Given the description of an element on the screen output the (x, y) to click on. 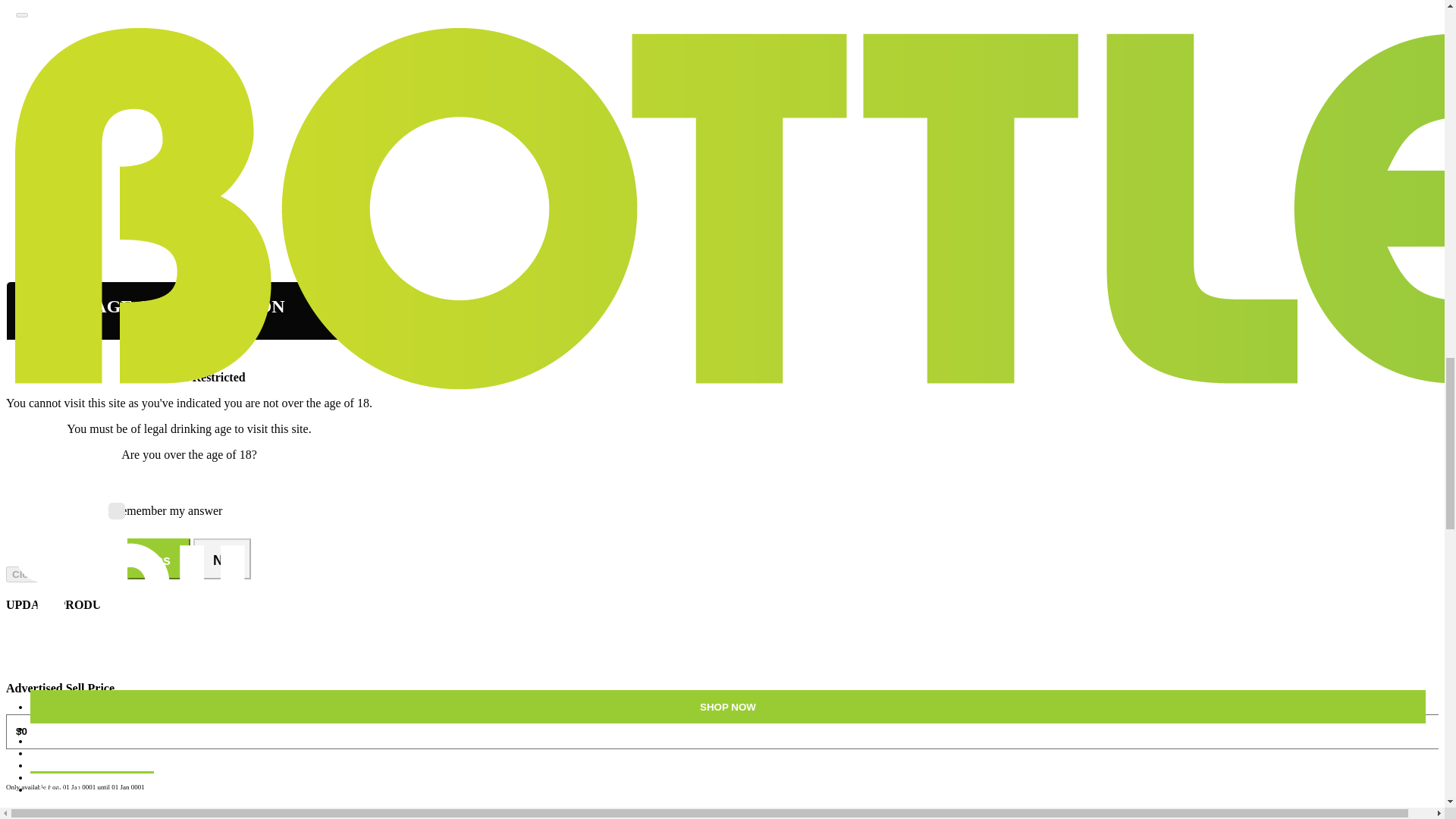
Close (25, 574)
Update (77, 816)
Cancel (27, 816)
